Given the description of an element on the screen output the (x, y) to click on. 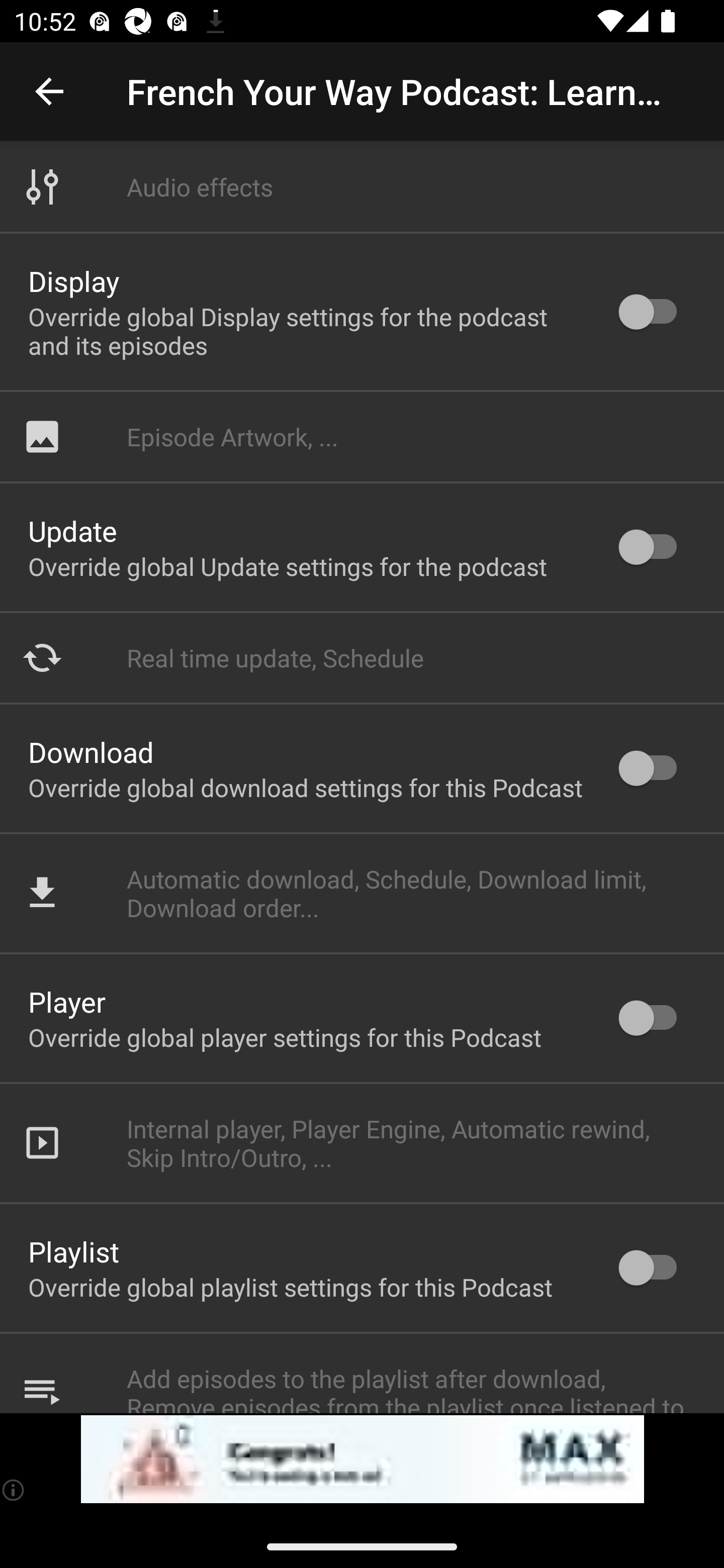
Navigate up (49, 91)
Audio effects (362, 187)
Episode Artwork, ... (362, 436)
Real time update, Schedule (362, 657)
app-monetization (362, 1459)
(i) (14, 1489)
